Given the description of an element on the screen output the (x, y) to click on. 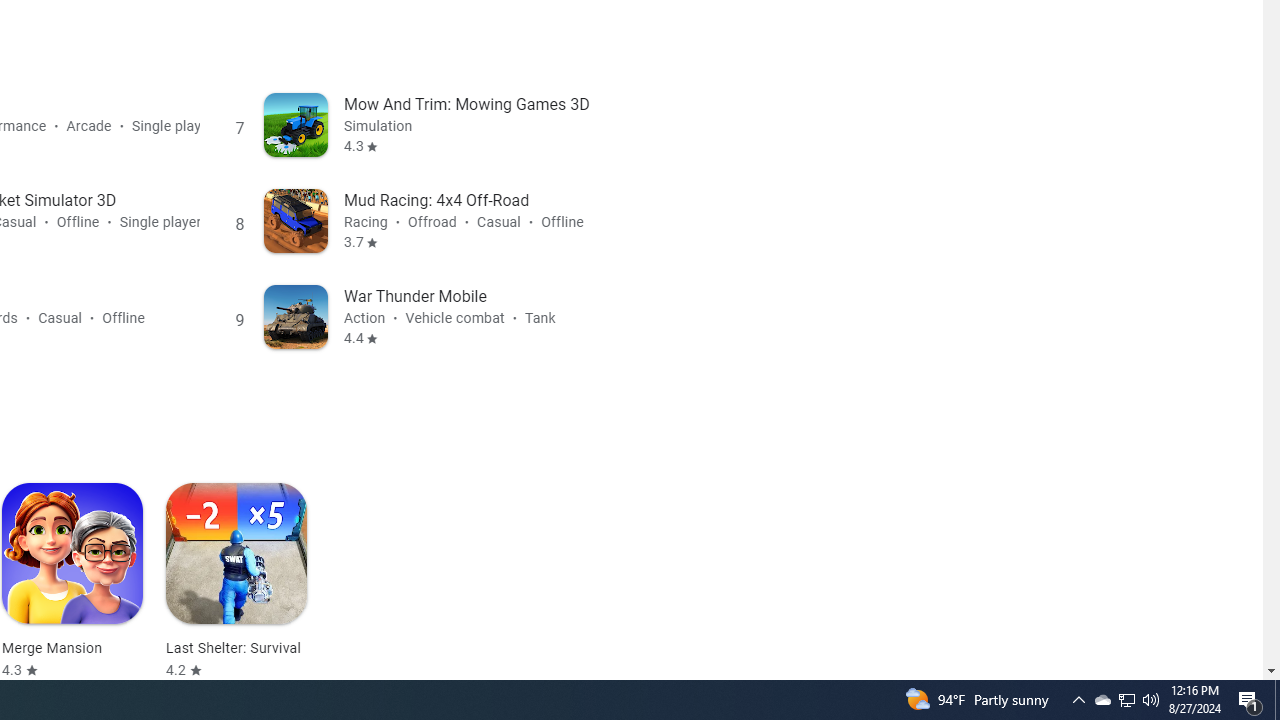
Merge Mansion Rated 4.3 stars out of five stars (72, 581)
Last Shelter: Survival Rated 4.2 stars out of five stars (236, 581)
